Given the description of an element on the screen output the (x, y) to click on. 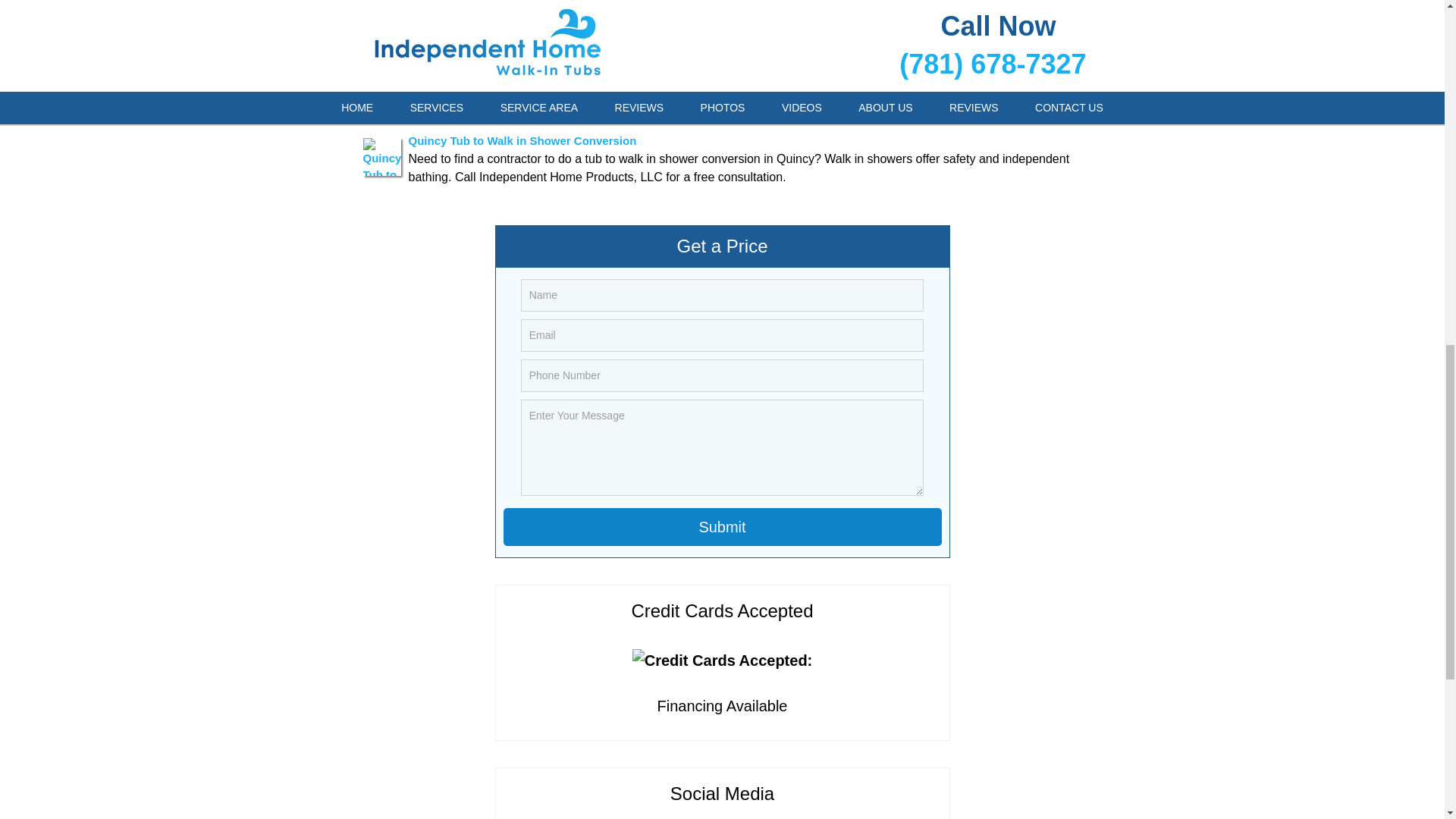
Submit (722, 526)
Quincy Senior Bath Solutions (488, 72)
Quincy Tub to Walk in Shower Conversion (521, 139)
Quincy Walk In Tub Prices (478, 22)
